Given the description of an element on the screen output the (x, y) to click on. 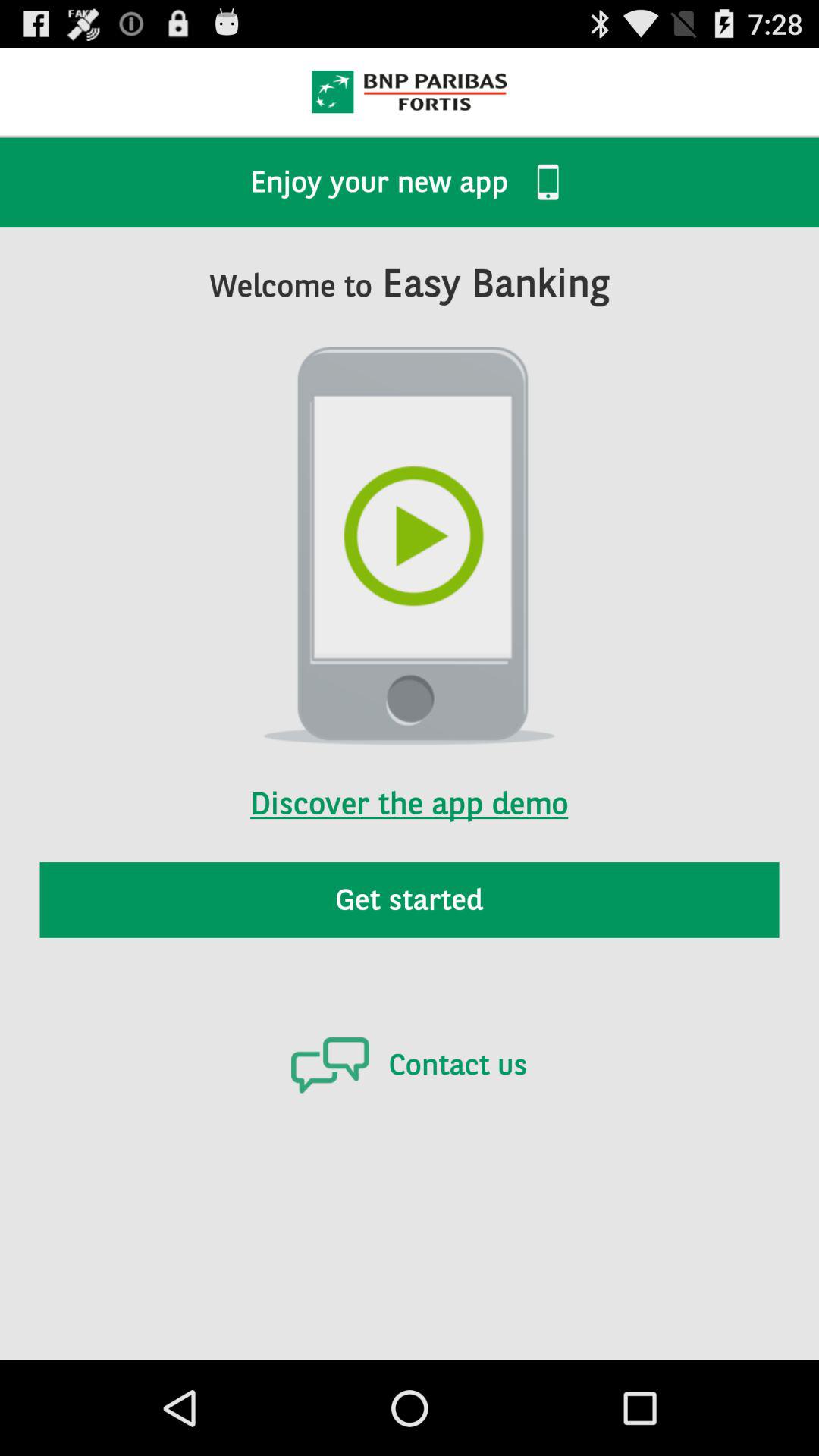
turn off icon at the bottom (409, 1065)
